Given the description of an element on the screen output the (x, y) to click on. 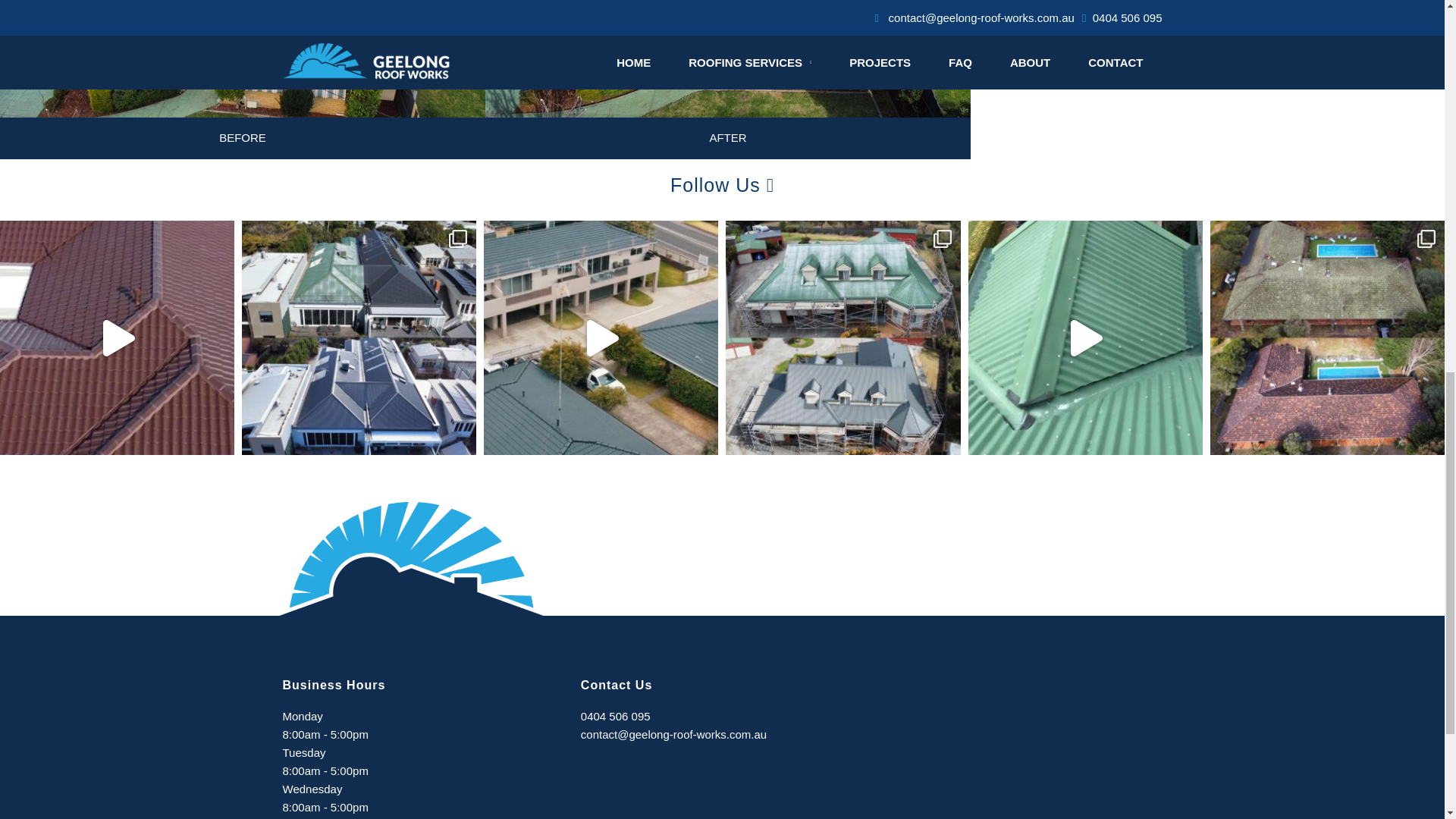
Follow Us (721, 184)
